Given the description of an element on the screen output the (x, y) to click on. 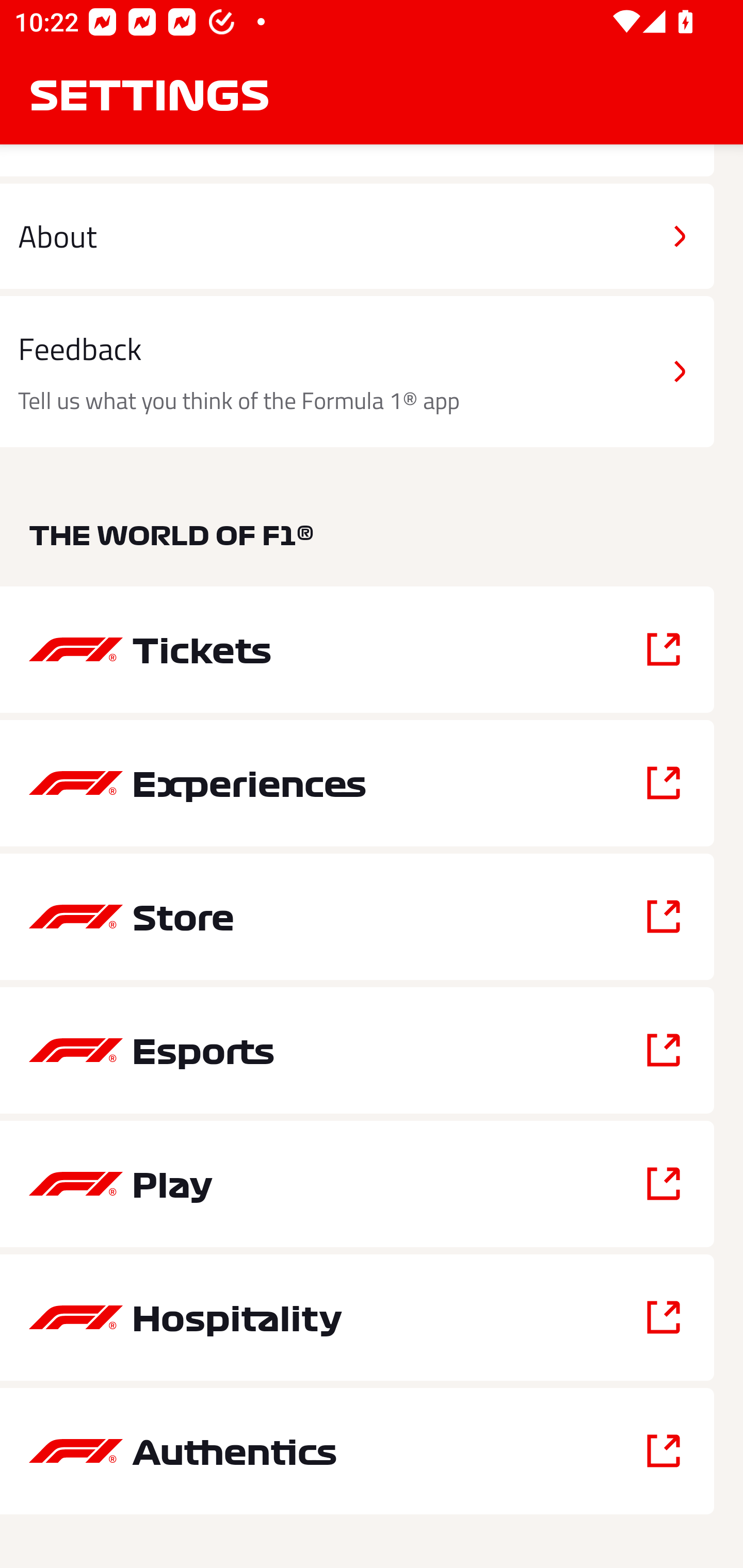
About (357, 235)
Tickets (357, 649)
Experiences (357, 782)
Store (357, 916)
Esports (357, 1050)
Play (357, 1183)
Hospitality (357, 1317)
Authentics (357, 1450)
